Given the description of an element on the screen output the (x, y) to click on. 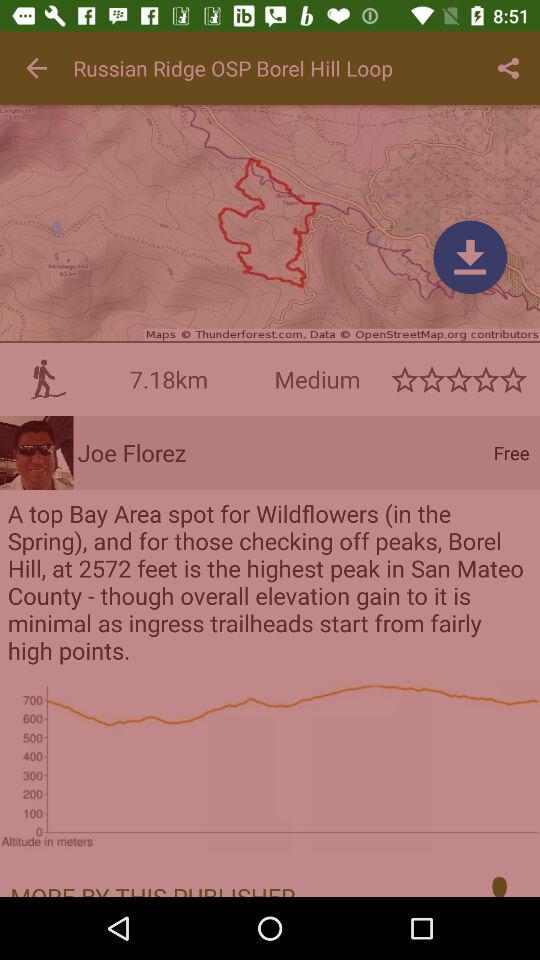
open icon to the left of russian ridge osp icon (36, 68)
